Given the description of an element on the screen output the (x, y) to click on. 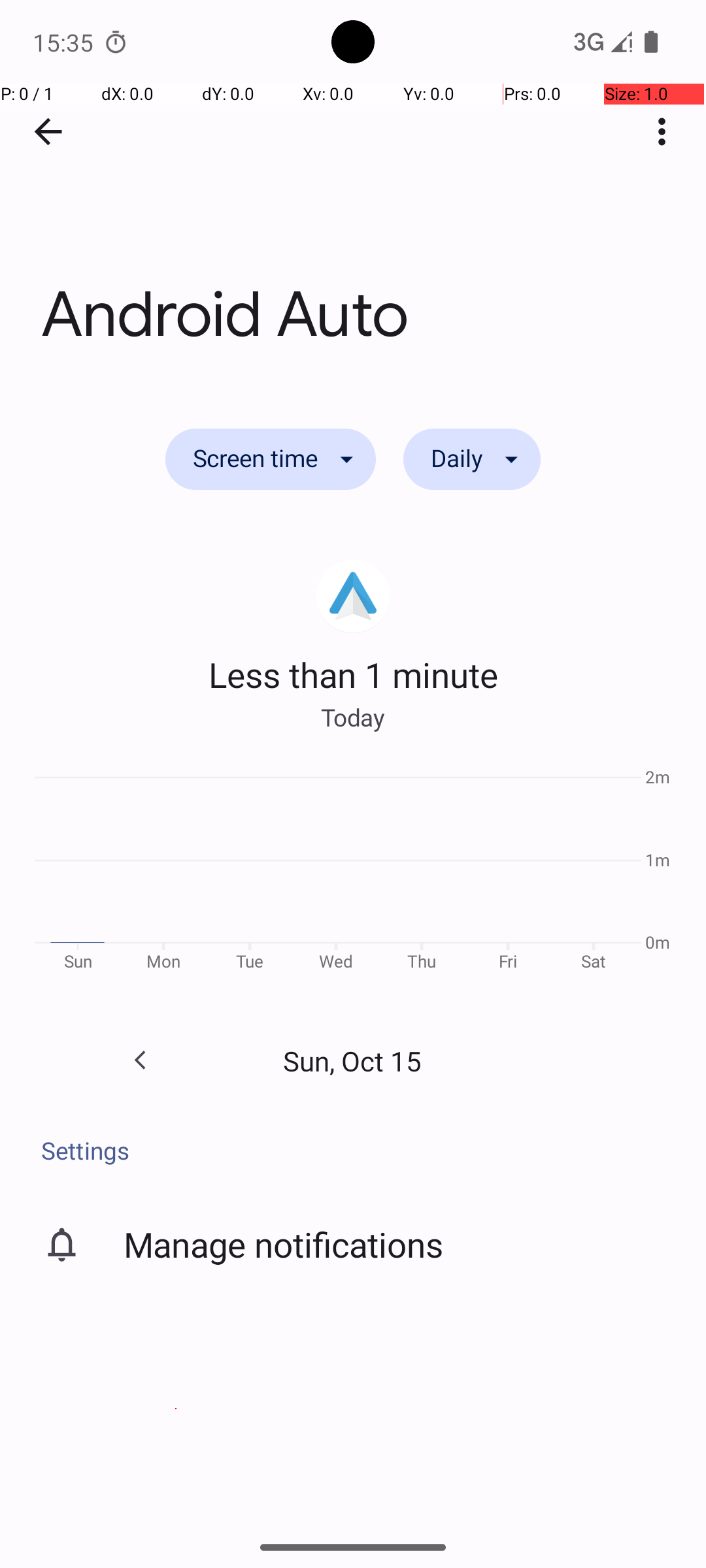
Less than 1 minute Element type: android.widget.TextView (353, 674)
Bar Chart. Showing App usage data with 7 data points. Element type: android.view.ViewGroup (353, 873)
